Given the description of an element on the screen output the (x, y) to click on. 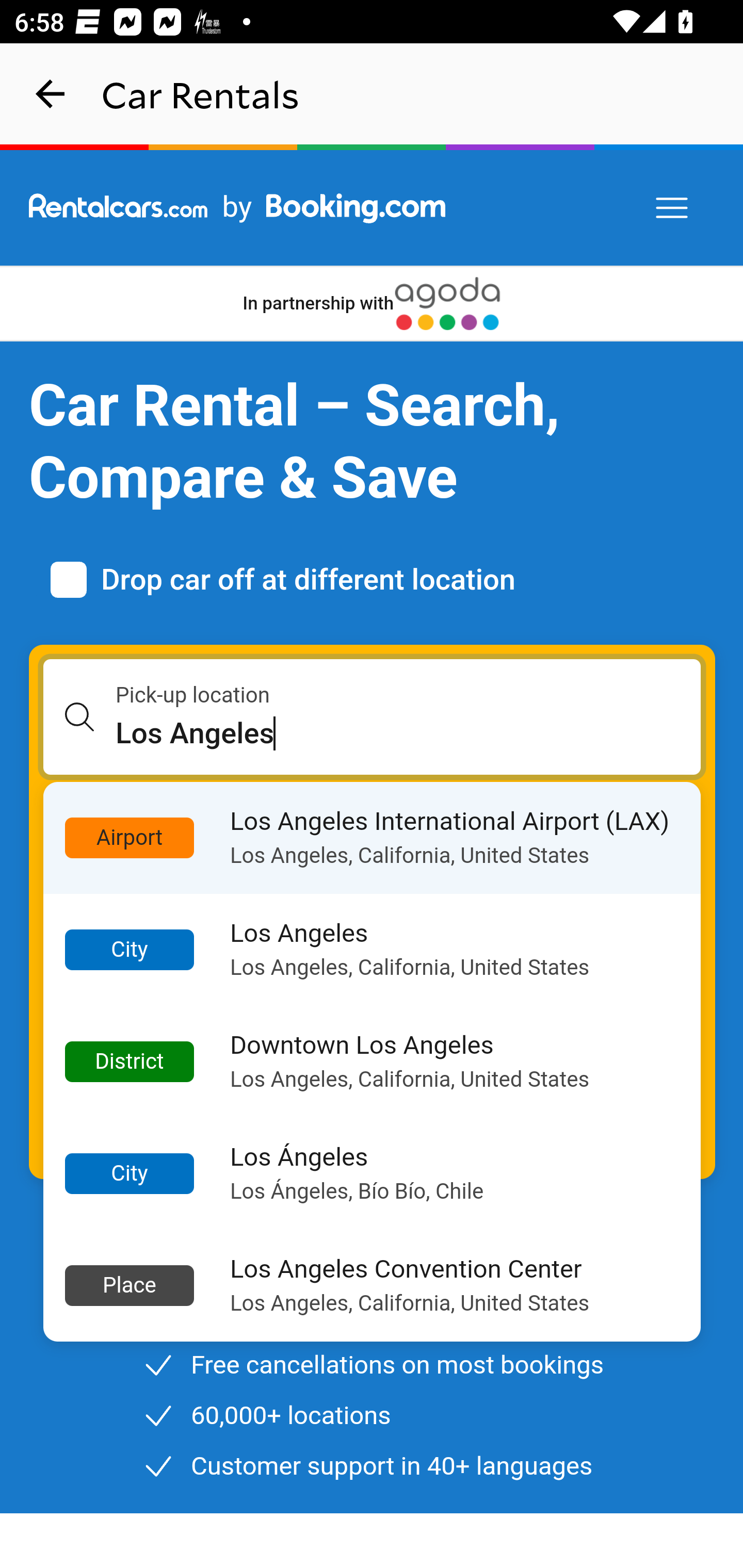
navigation_button (50, 93)
Menu (672, 208)
Pick-up location Los Angeles (372, 717)
Los Angeles (408, 733)
